Given the description of an element on the screen output the (x, y) to click on. 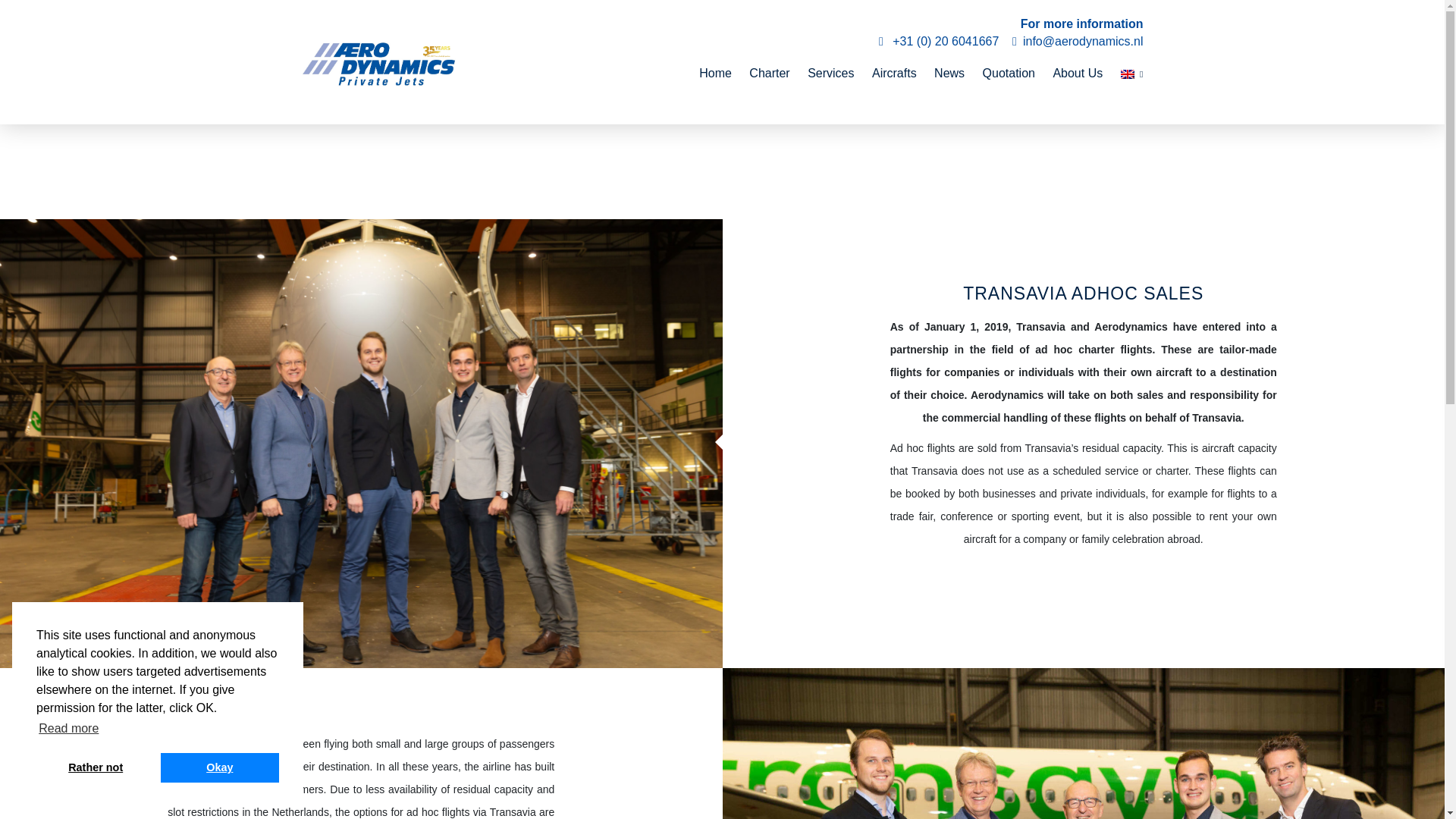
Okay (219, 767)
News (948, 72)
Home (715, 72)
Charter (769, 72)
Read more (68, 728)
Aircrafts (894, 72)
Services (830, 72)
About Us (1077, 72)
Quotation (1008, 72)
Scroll (722, 160)
Rather not (95, 767)
